Given the description of an element on the screen output the (x, y) to click on. 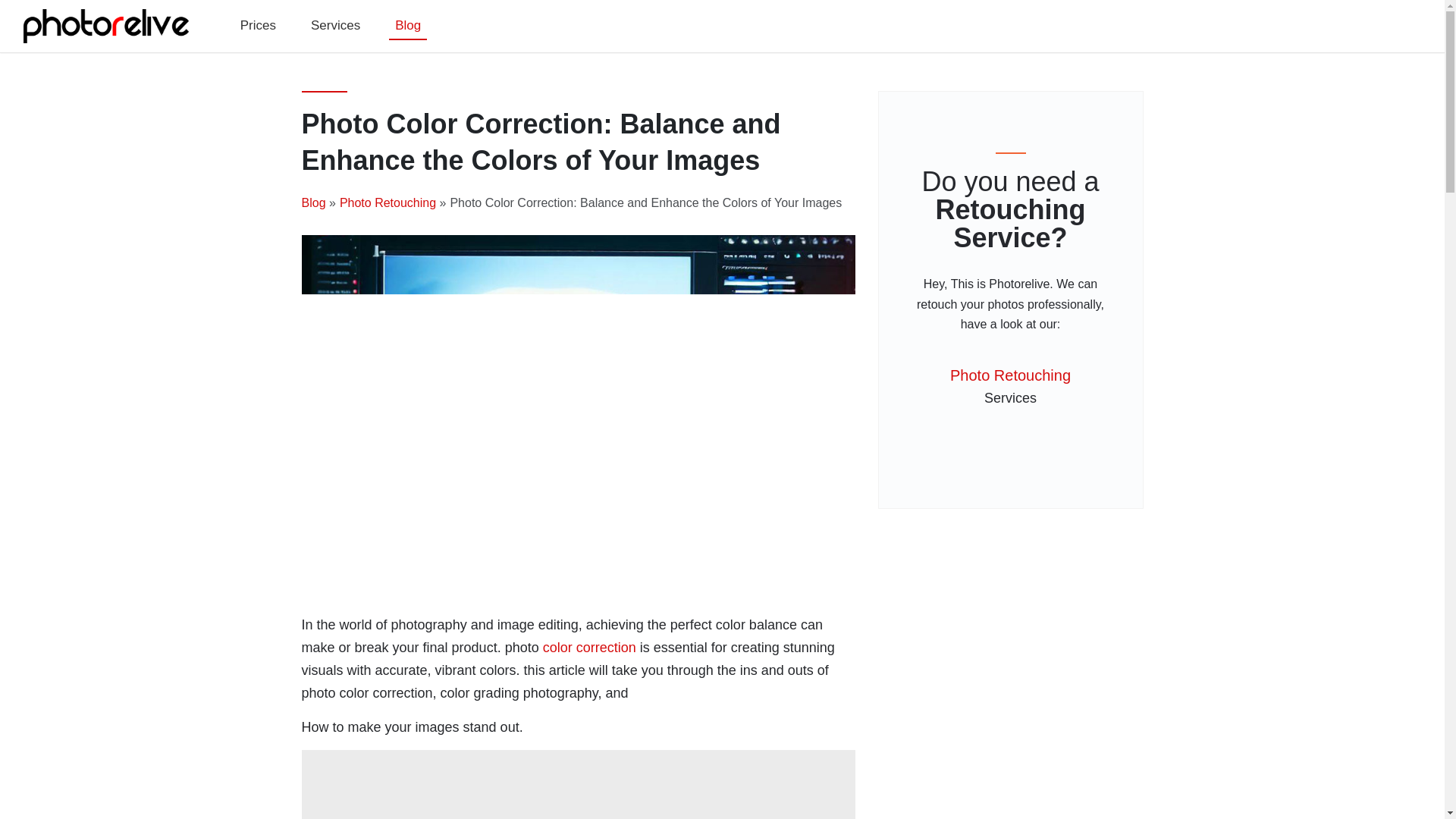
Blog (313, 202)
Blog (407, 26)
Prices (258, 25)
Services (335, 25)
Photo Retouching Prices (258, 25)
Photo Retouching Services (335, 25)
Photo Retouching (1010, 387)
color correction (387, 202)
